Given the description of an element on the screen output the (x, y) to click on. 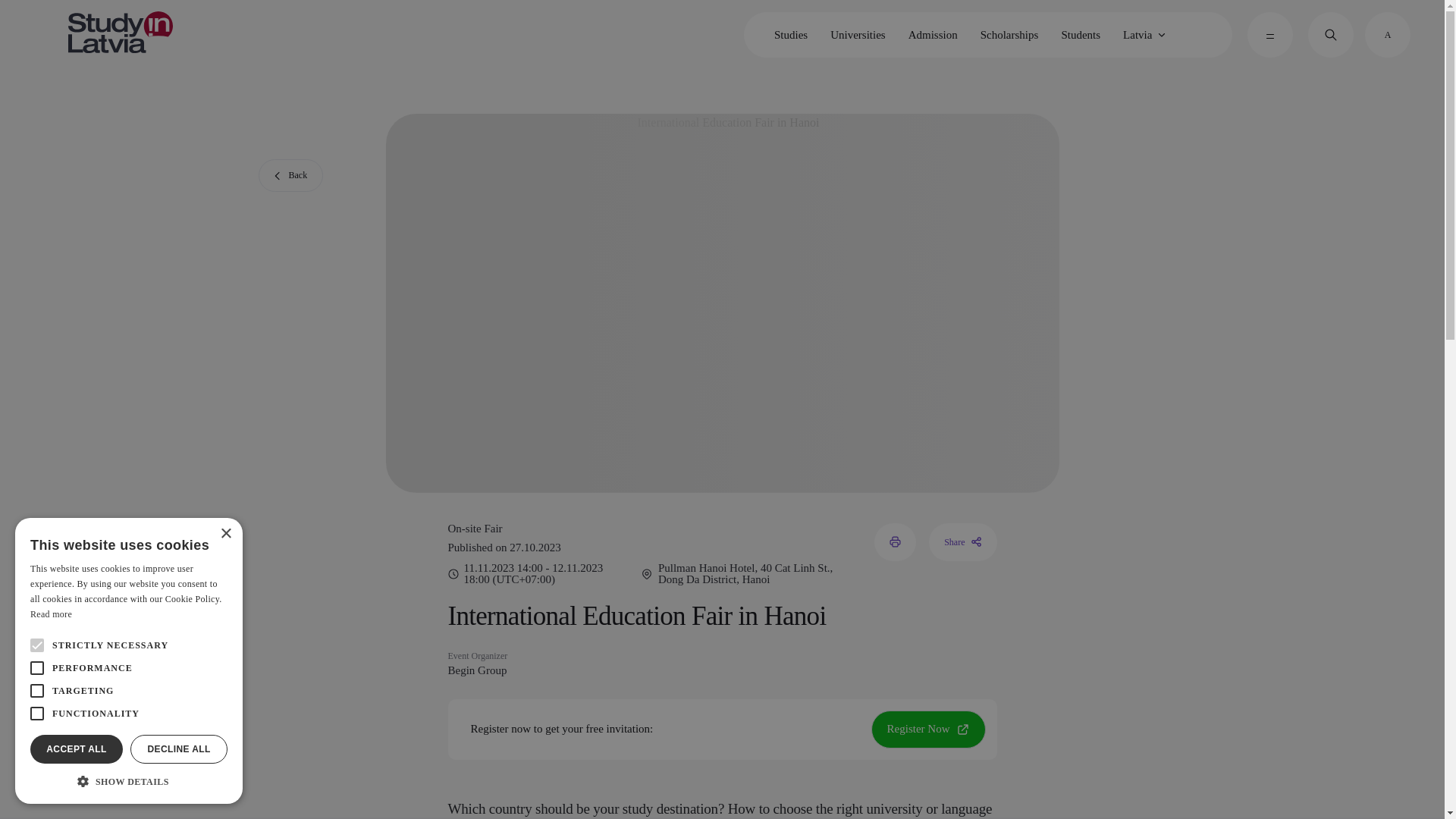
Register Now (927, 728)
Universities (858, 35)
Share (961, 542)
Scholarships (1009, 35)
Back (290, 174)
Students (1080, 35)
Admission (932, 35)
Studies (790, 35)
